Given the description of an element on the screen output the (x, y) to click on. 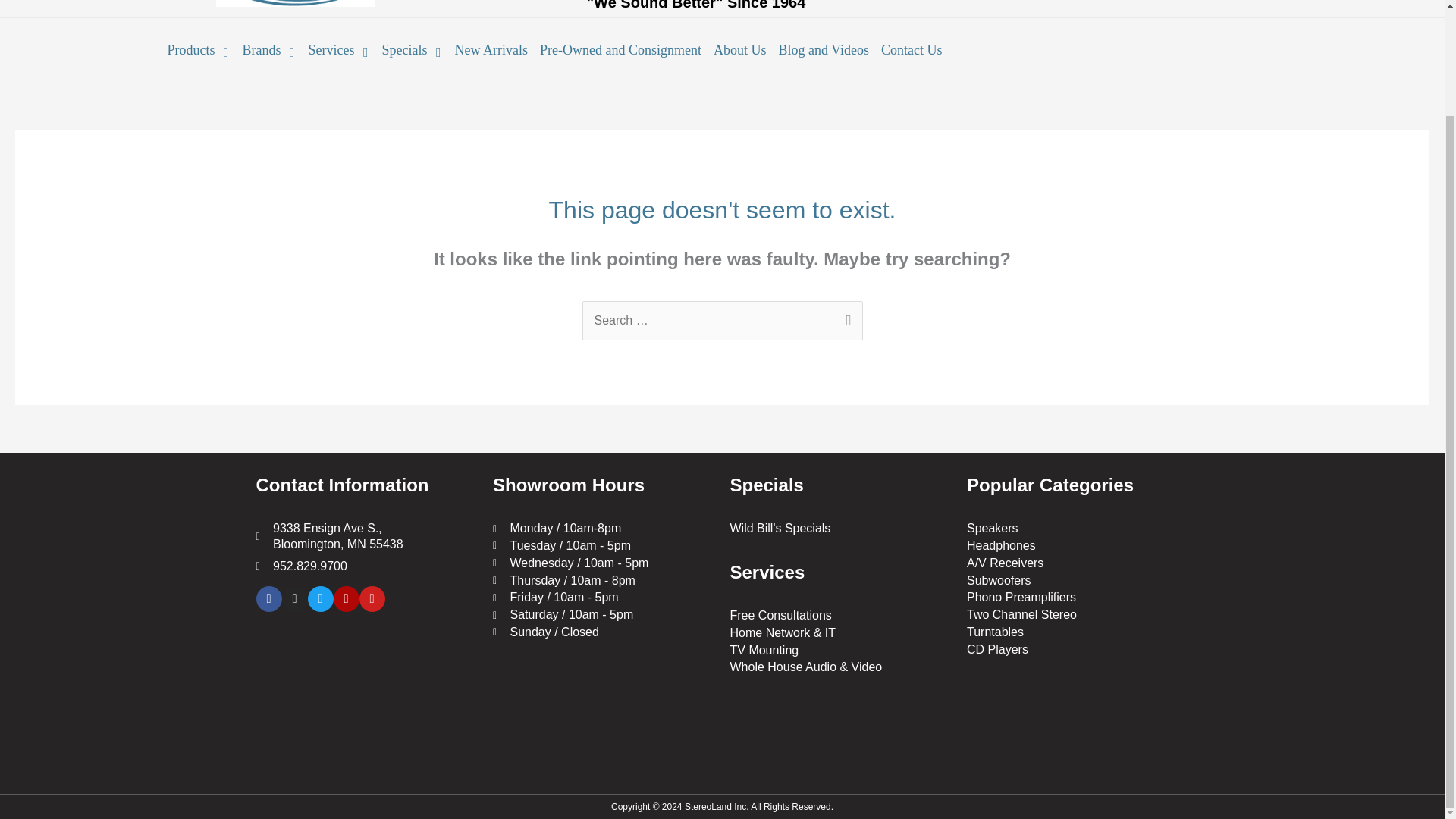
Products (197, 49)
9338 Ensign Ave S.,Bloomington, MN 55438 (367, 689)
